Given the description of an element on the screen output the (x, y) to click on. 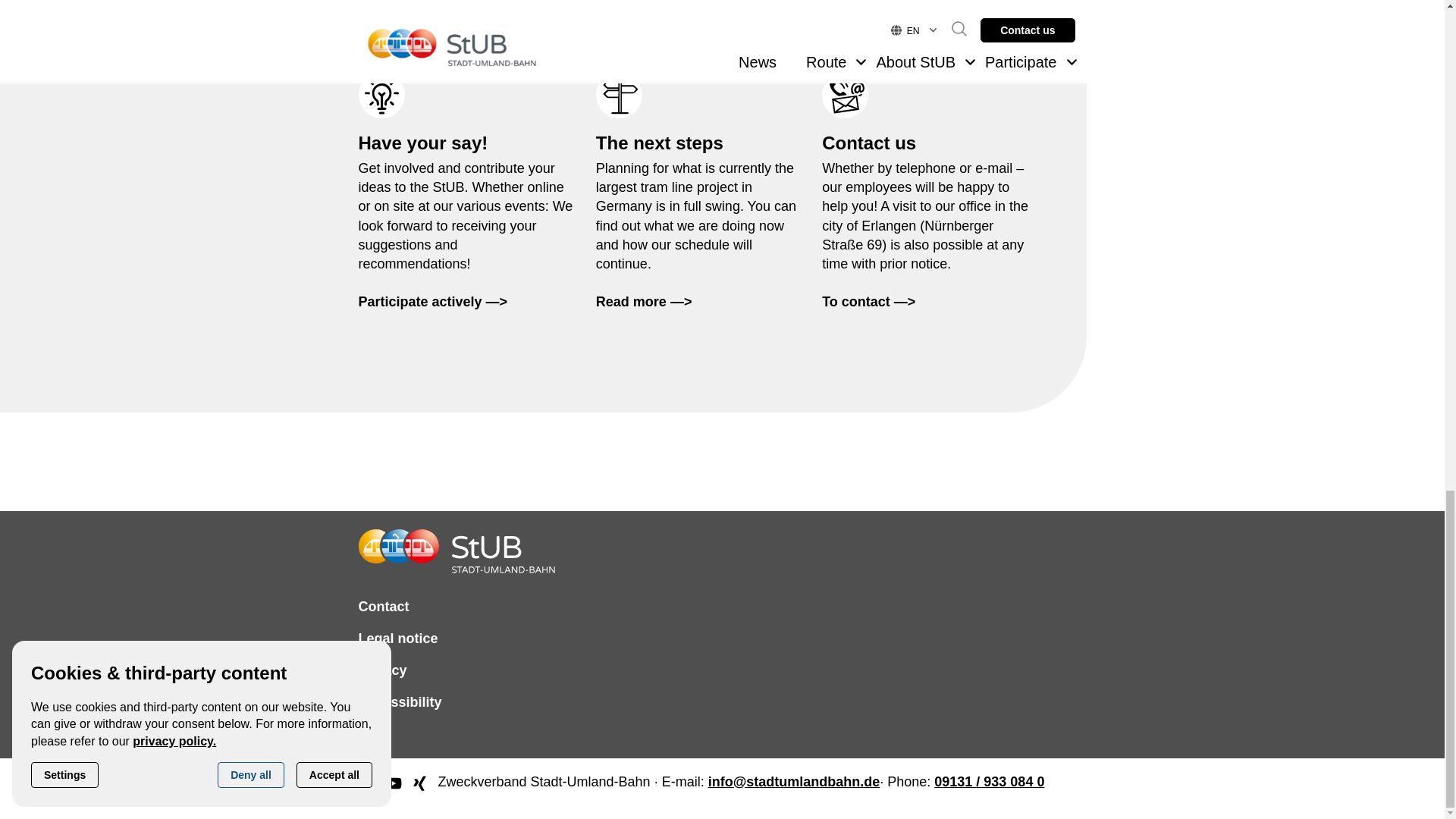
To contact (868, 301)
Privacy (382, 670)
Read more (644, 301)
Contact (383, 607)
Accessibility (399, 702)
Participate actively (432, 301)
Legal notice (398, 639)
E-mail an den Zweckverband StUB (793, 787)
